Given the description of an element on the screen output the (x, y) to click on. 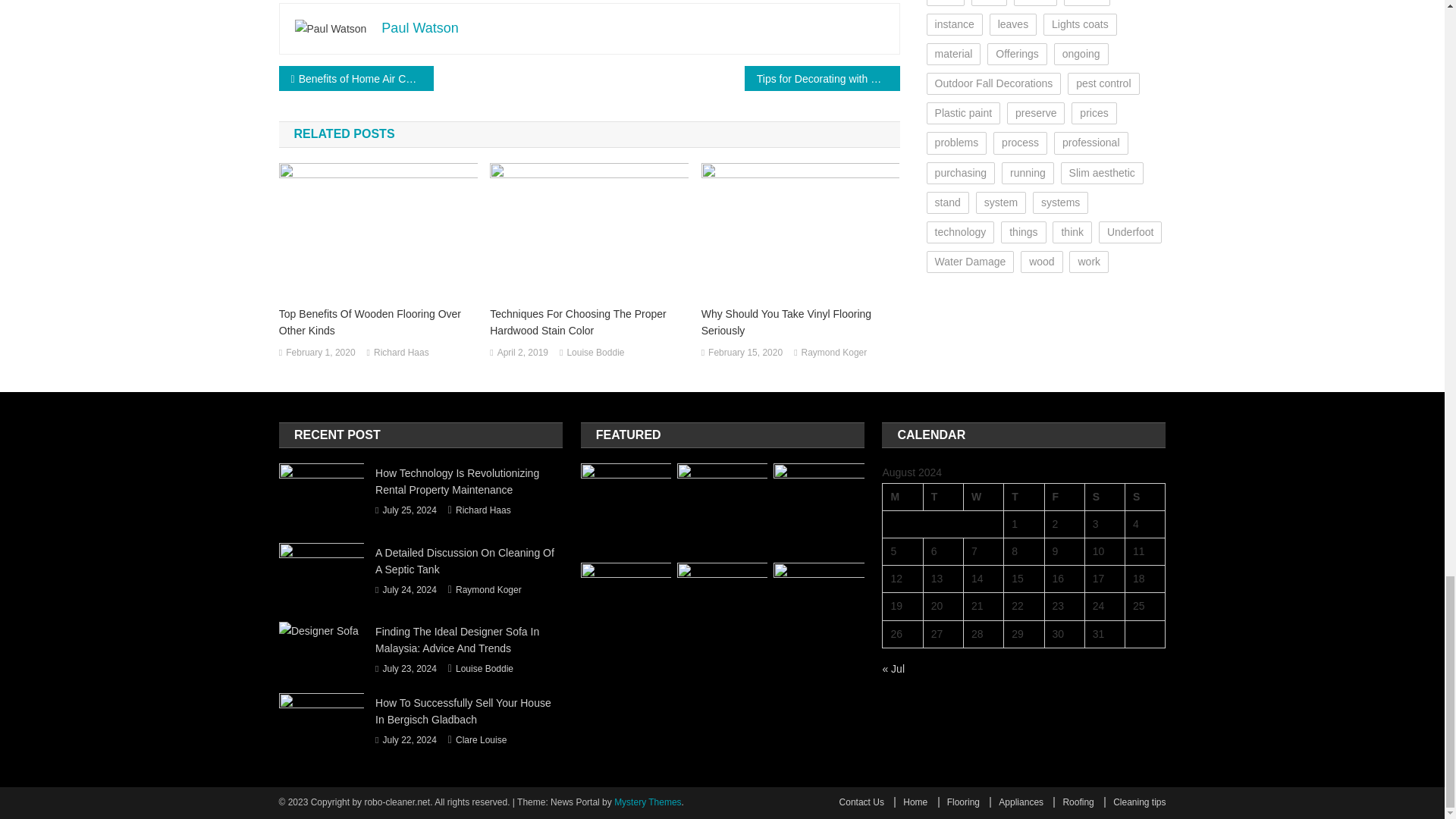
Benefits of Home Air Conditioning (356, 78)
Sunday (1145, 496)
April 2, 2019 (522, 352)
Raymond Koger (834, 352)
Louise Boddie (595, 352)
Why Should You Take Vinyl Flooring Seriously (800, 322)
Friday (1063, 496)
Tuesday (942, 496)
Techniques For Choosing The Proper Hardwood Stain Color (588, 322)
Thursday (1023, 496)
Tips for Decorating with Rugs (821, 78)
February 15, 2020 (745, 352)
Wednesday (982, 496)
Paul Watson (419, 28)
Richard Haas (401, 352)
